Given the description of an element on the screen output the (x, y) to click on. 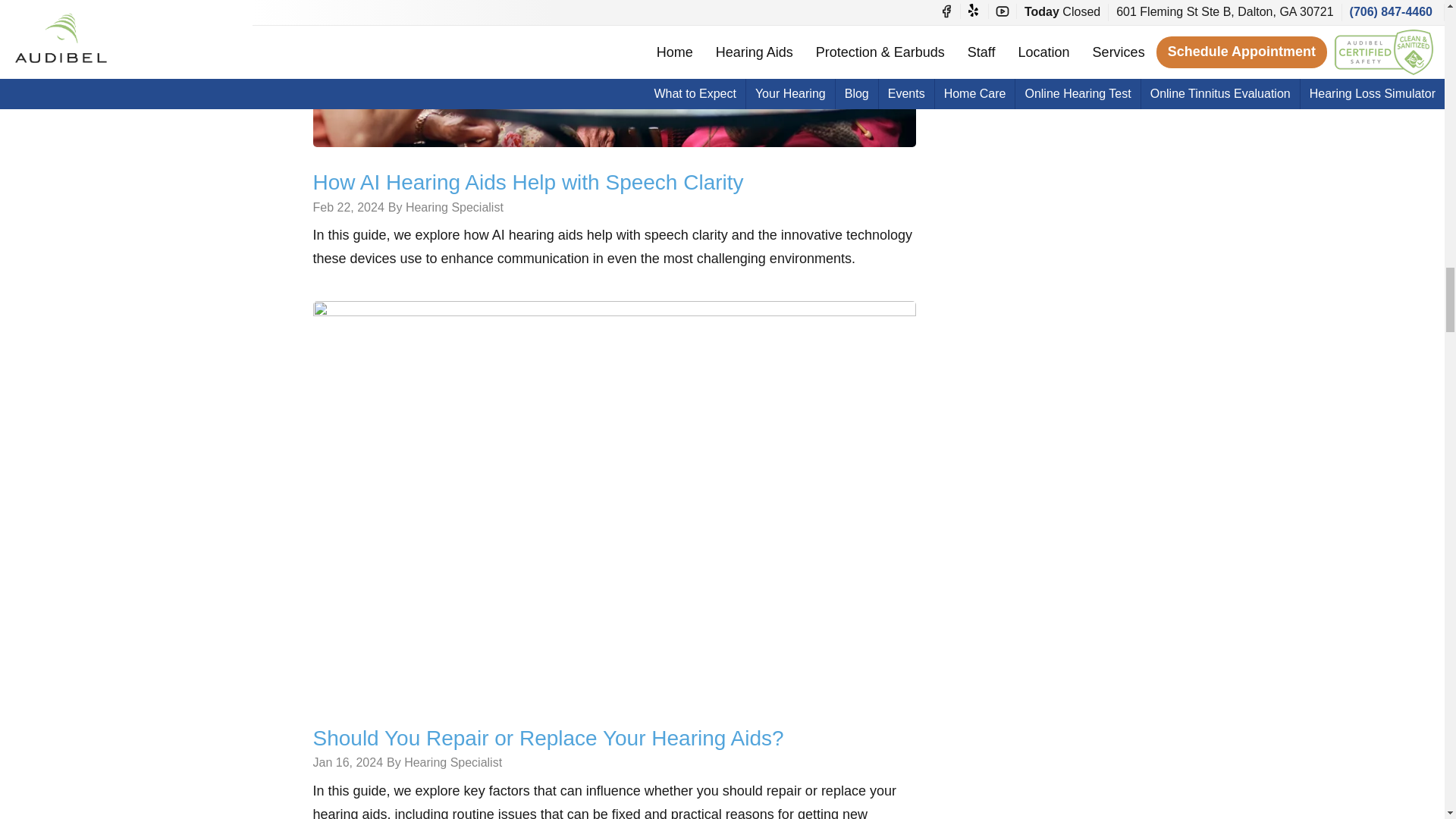
Should You Repair or Replace Your Hearing Aids? (614, 500)
